Given the description of an element on the screen output the (x, y) to click on. 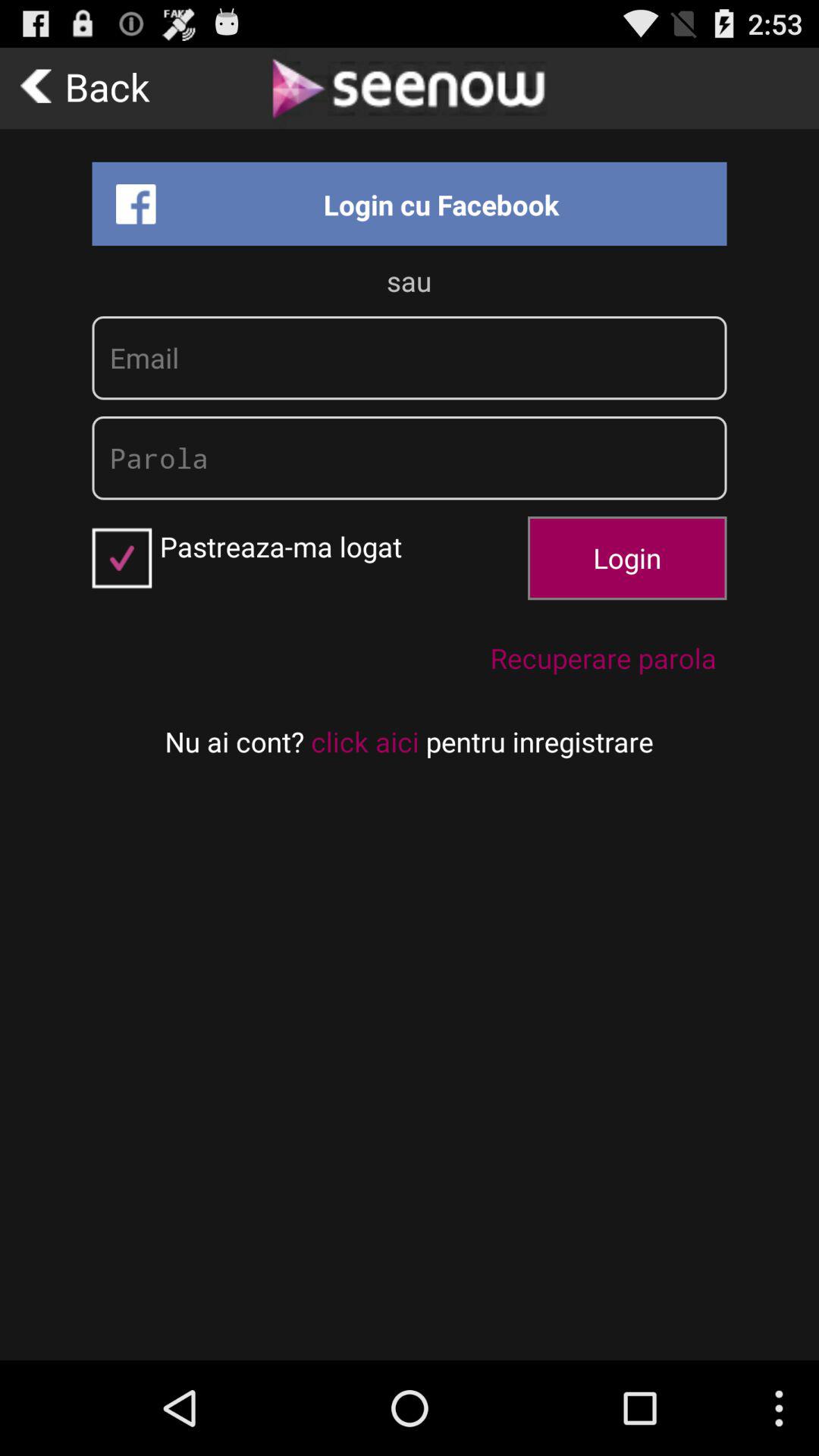
go back (89, 87)
